Given the description of an element on the screen output the (x, y) to click on. 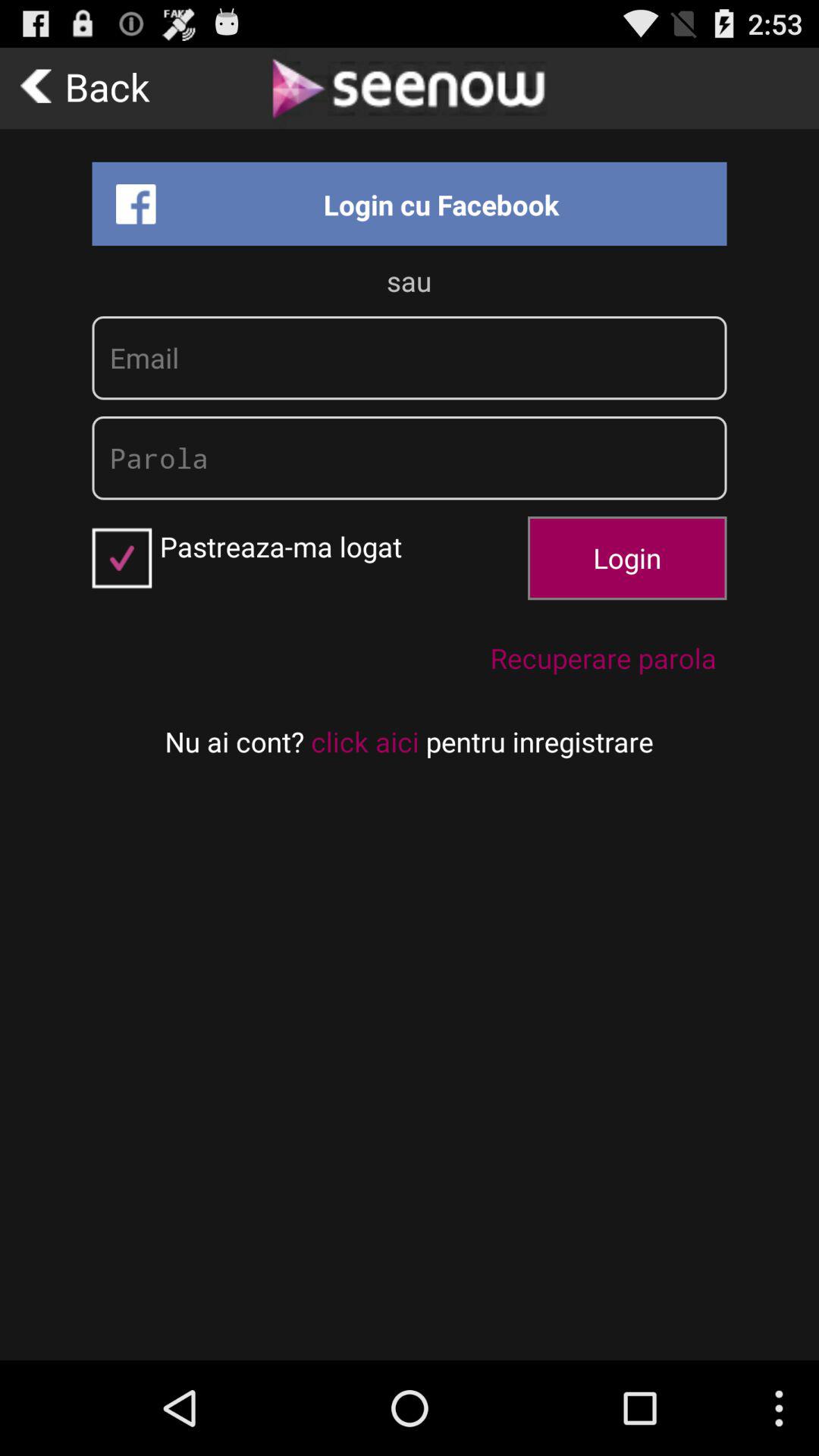
go back (89, 87)
